Given the description of an element on the screen output the (x, y) to click on. 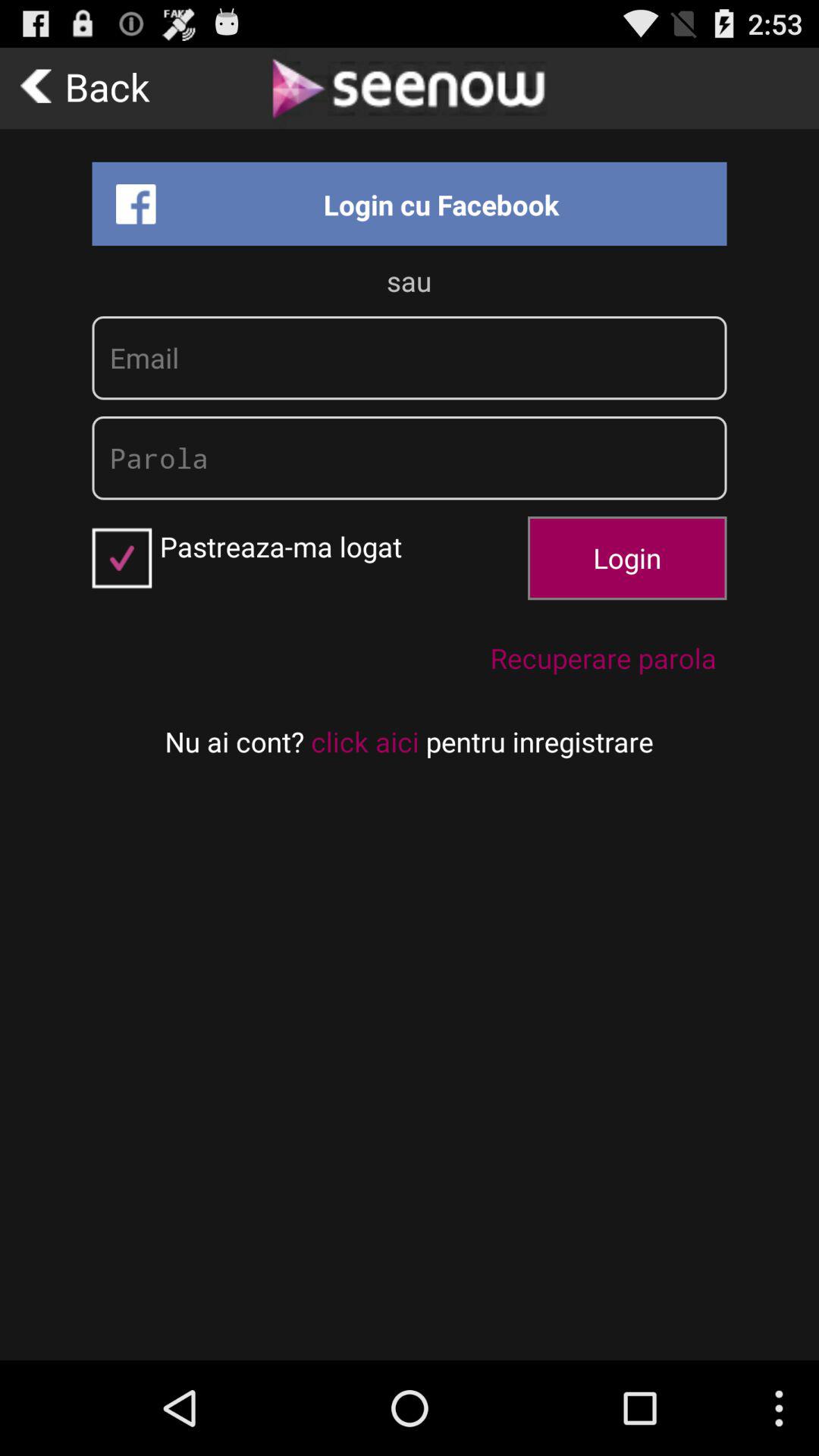
go back (89, 87)
